Given the description of an element on the screen output the (x, y) to click on. 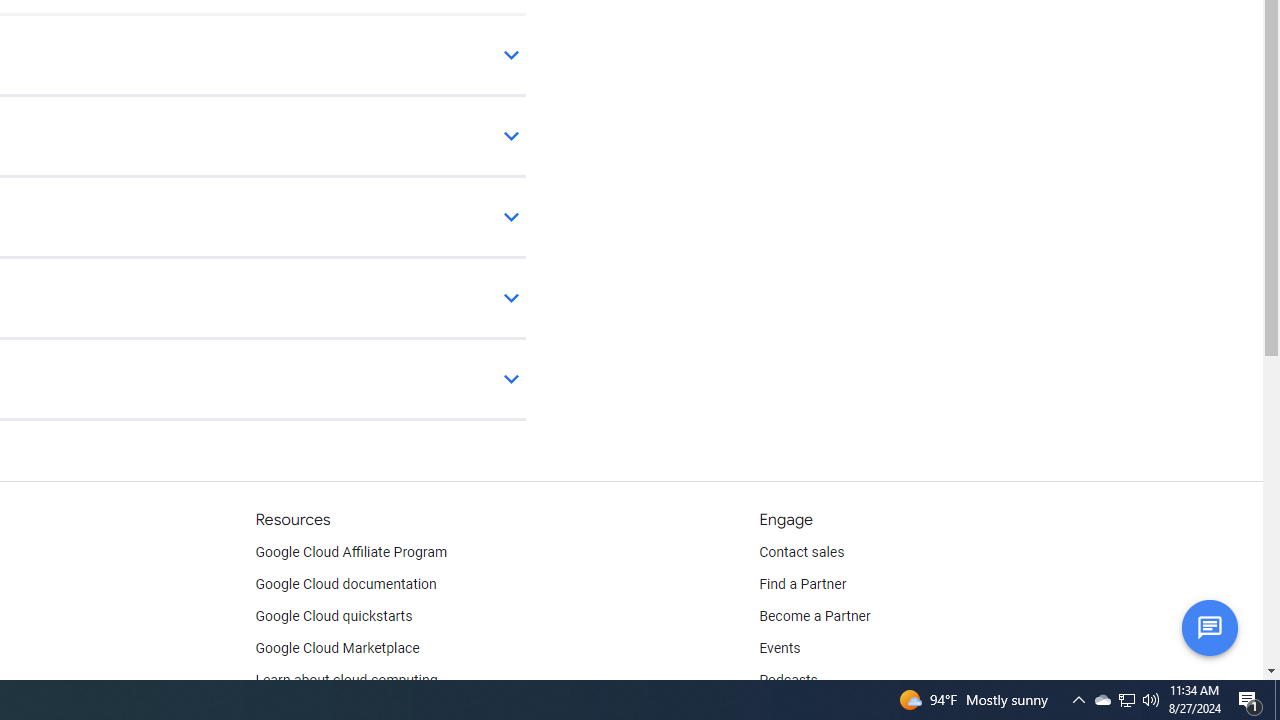
Podcasts (788, 680)
Find a Partner (803, 584)
Google Cloud Affiliate Program (351, 552)
Learn about cloud computing (345, 680)
Events (780, 648)
Google Cloud Marketplace (336, 648)
Become a Partner (814, 616)
Button to activate chat (1209, 627)
Google Cloud documentation (345, 584)
Google Cloud quickstarts (333, 616)
Contact sales (801, 552)
